Given the description of an element on the screen output the (x, y) to click on. 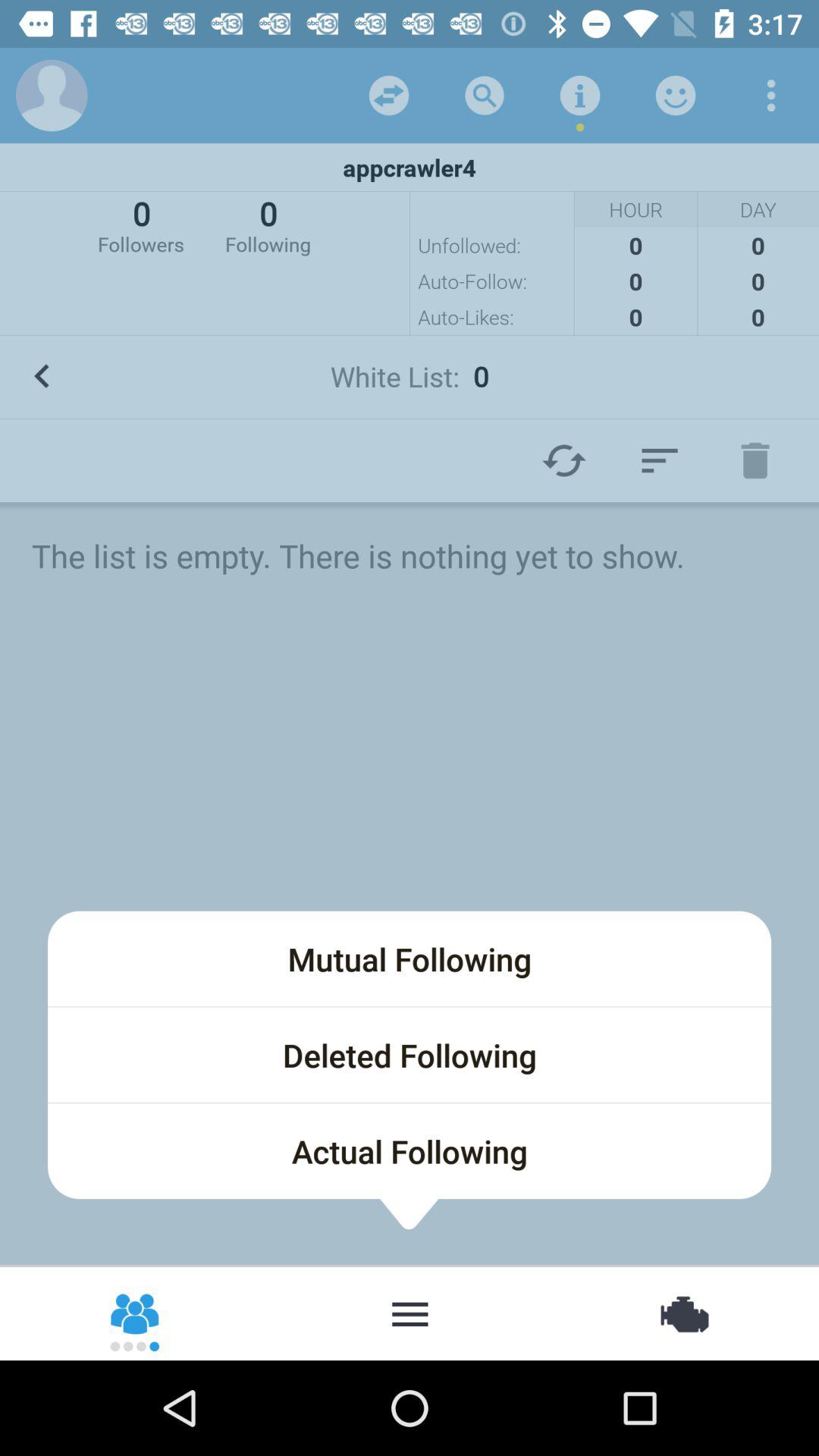
view settings (771, 95)
